Given the description of an element on the screen output the (x, y) to click on. 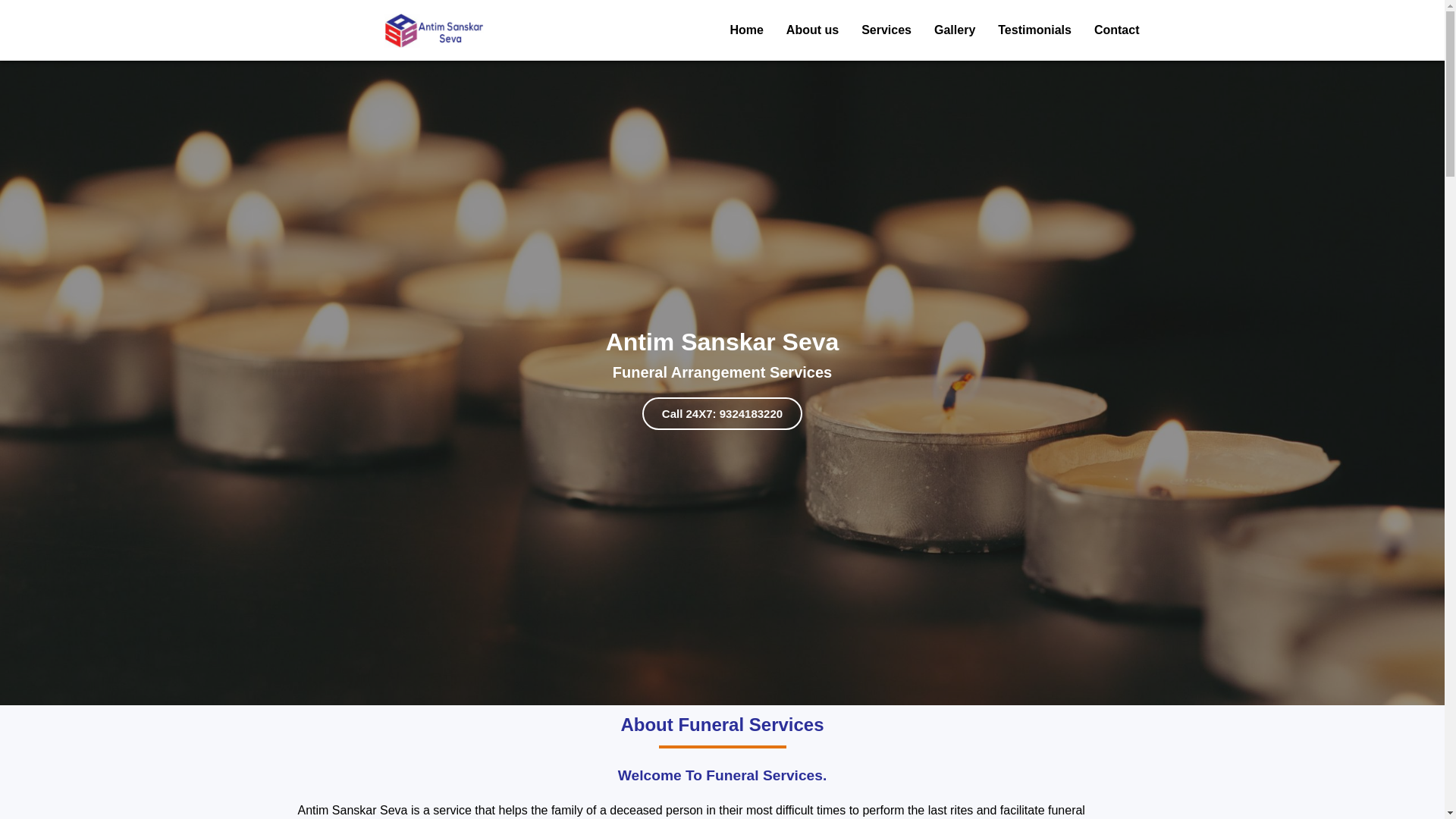
About us (811, 30)
Services (885, 30)
Home (746, 30)
Gallery (954, 30)
Testimonials (1034, 30)
Contact (1116, 30)
